Given the description of an element on the screen output the (x, y) to click on. 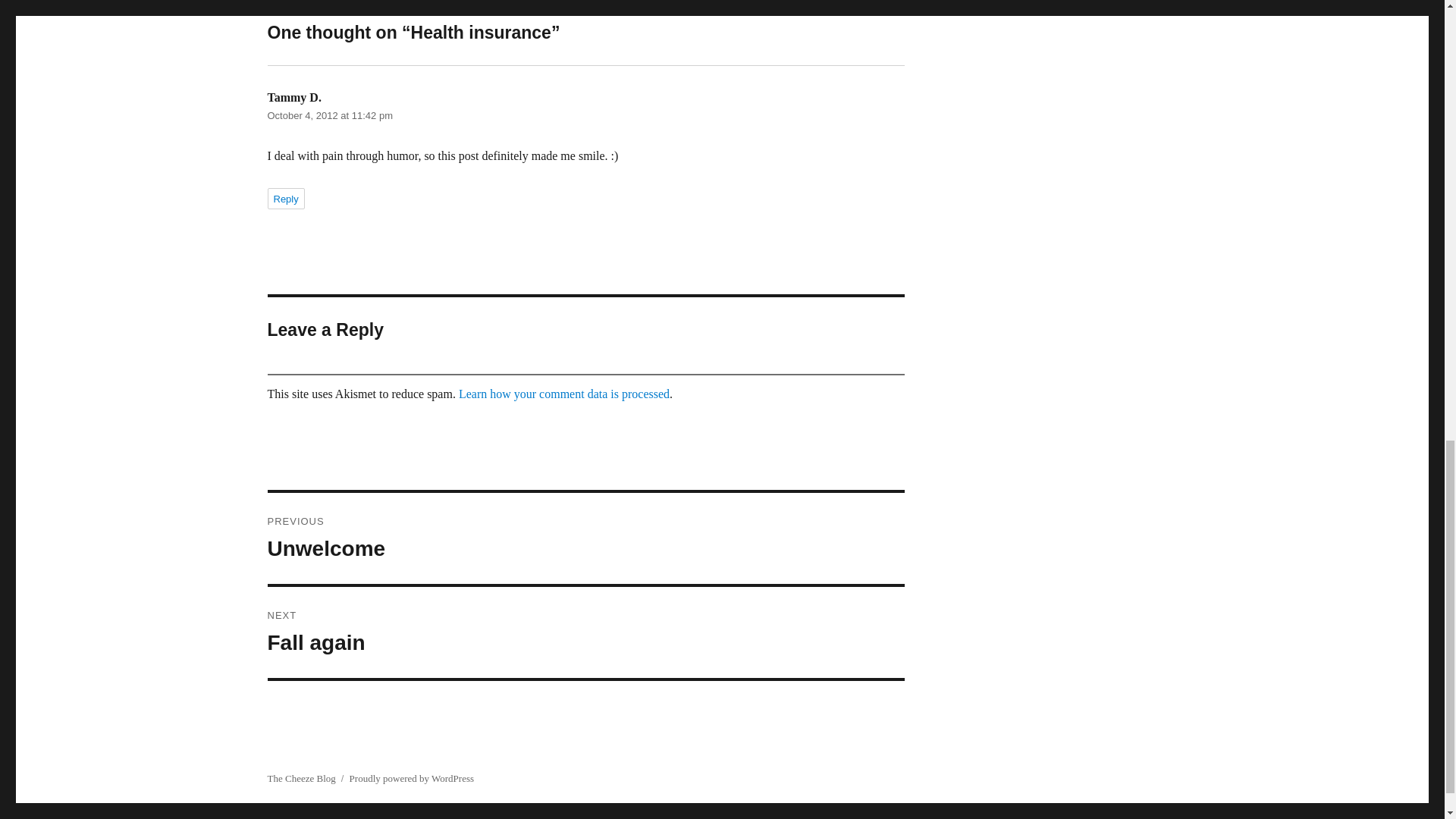
October 4, 2012 at 11:42 pm (585, 632)
Reply (329, 115)
Comment Form (585, 538)
Learn how your comment data is processed (285, 198)
